Given the description of an element on the screen output the (x, y) to click on. 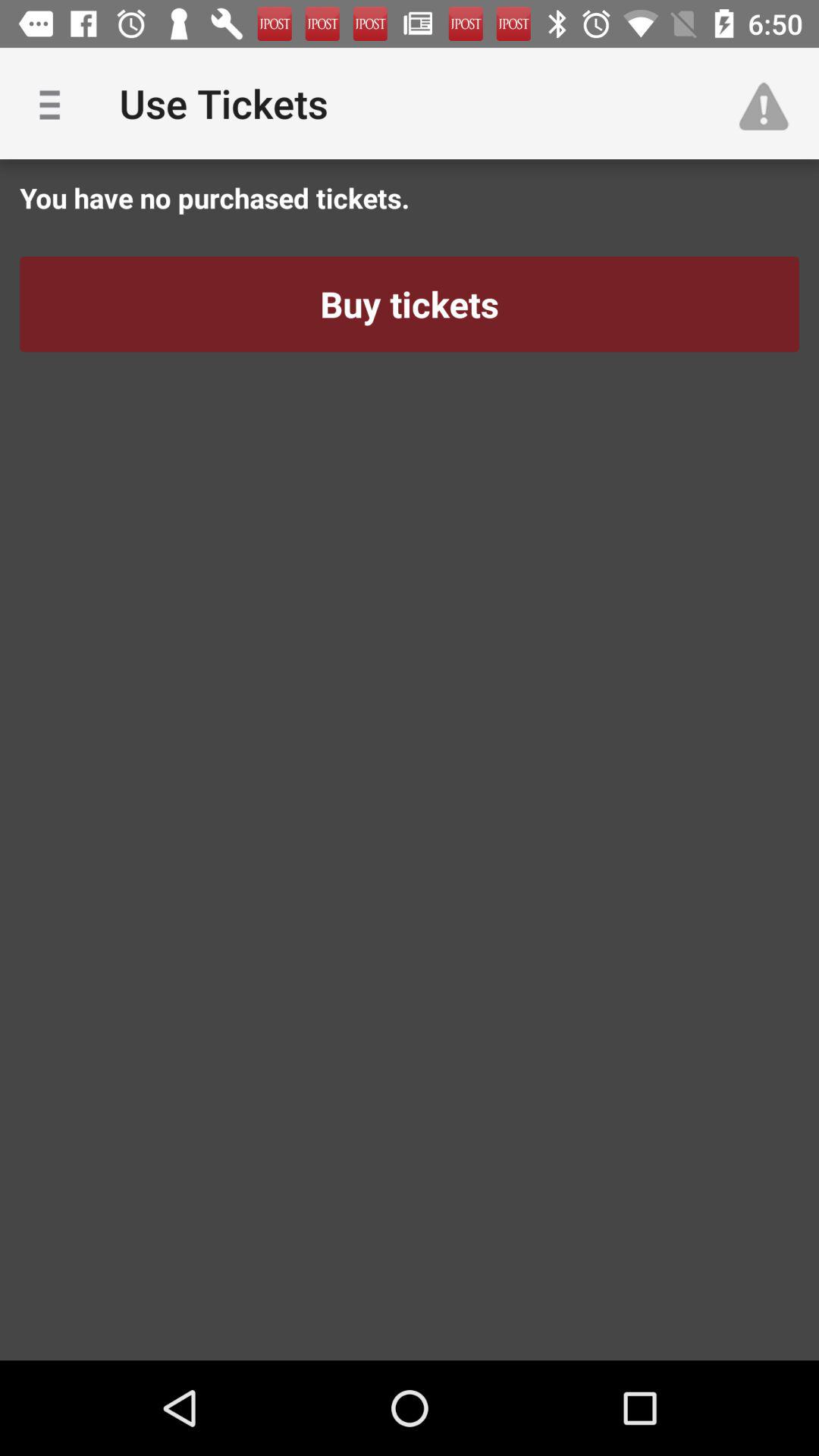
turn off the icon next to the use tickets (55, 103)
